Given the description of an element on the screen output the (x, y) to click on. 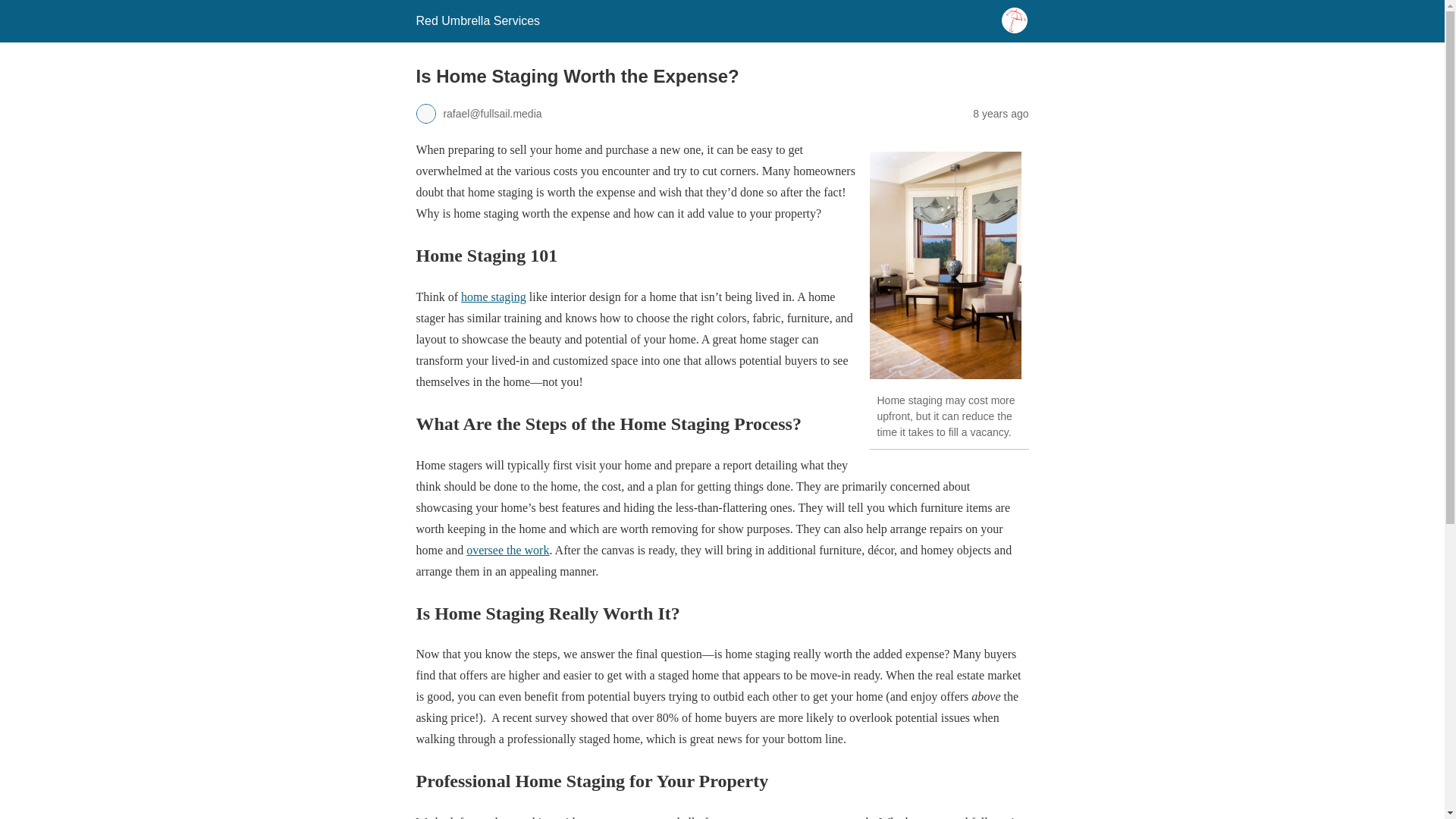
home staging (493, 296)
Red Umbrella Services (477, 20)
oversee the work (506, 549)
